Given the description of an element on the screen output the (x, y) to click on. 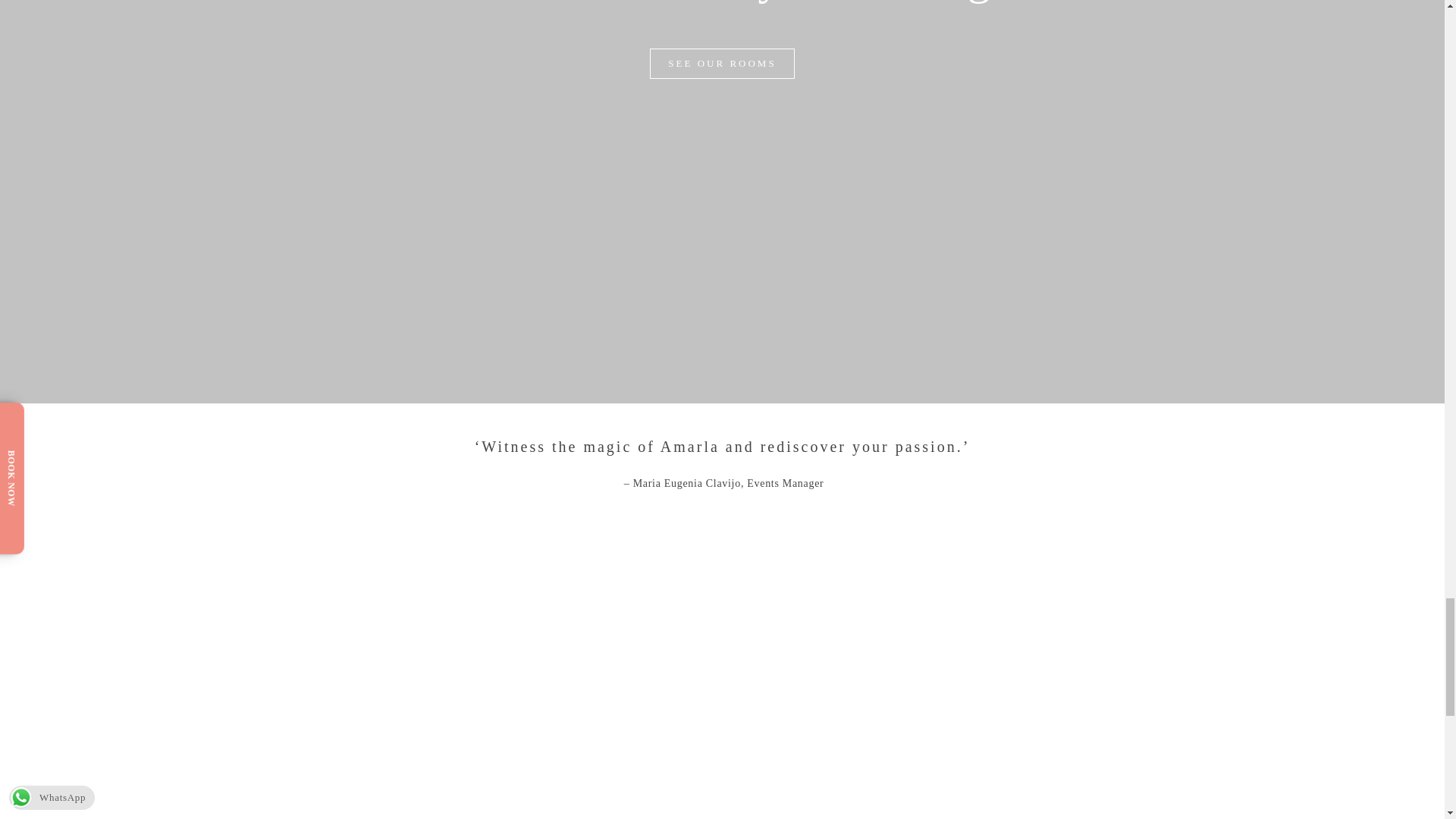
Things-to-do-in-Cartagena-Mangrove-kayaking (432, 721)
Amarla Sunset Cartagena Photo (722, 721)
SEE OUR ROOMS (721, 63)
Pool Yoga Moment Amarla Boutique Hotel Cartagena (1011, 721)
